Given the description of an element on the screen output the (x, y) to click on. 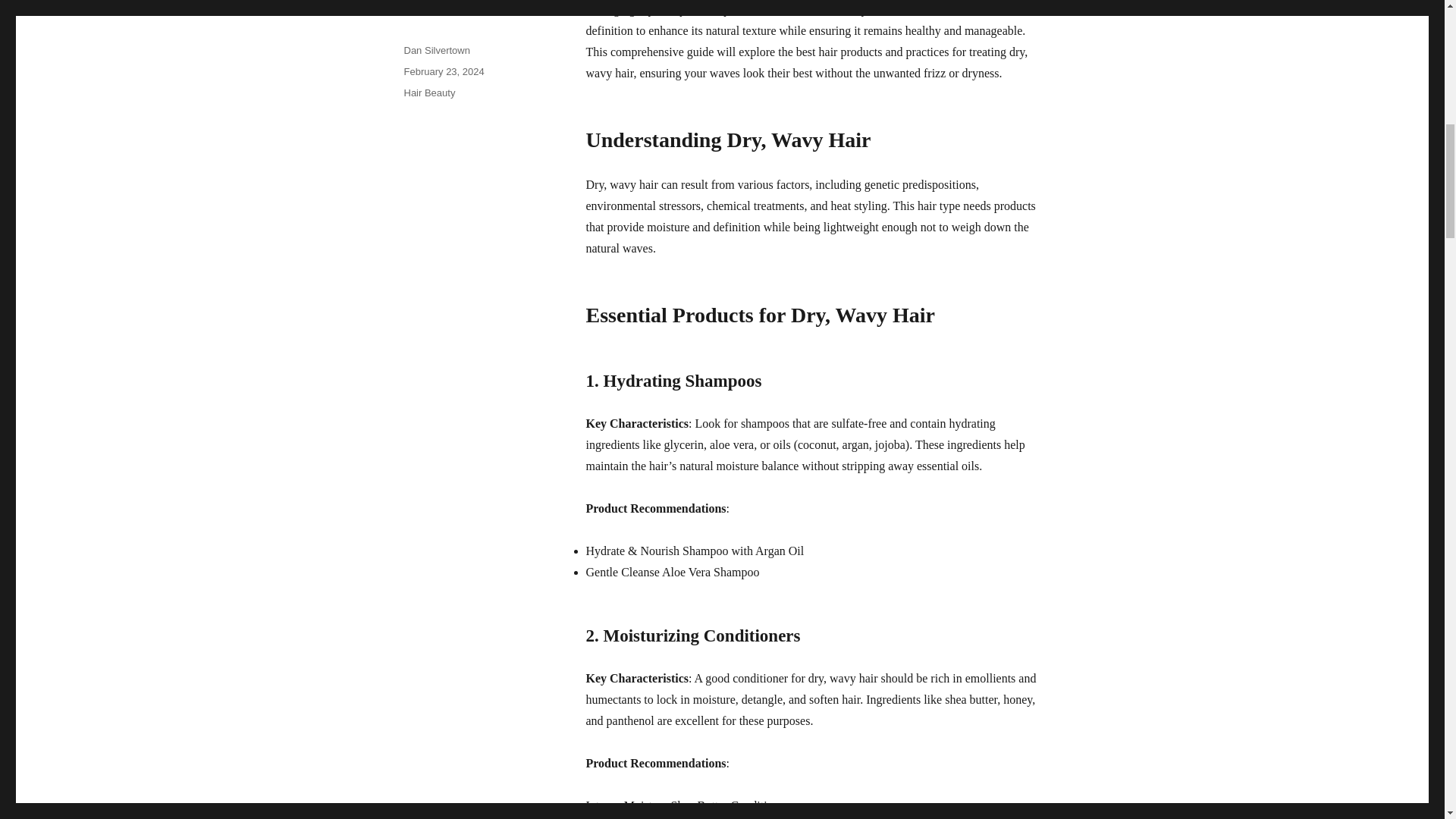
Dan Silvertown (435, 50)
February 23, 2024 (443, 71)
Hair Beauty (428, 92)
